Given the description of an element on the screen output the (x, y) to click on. 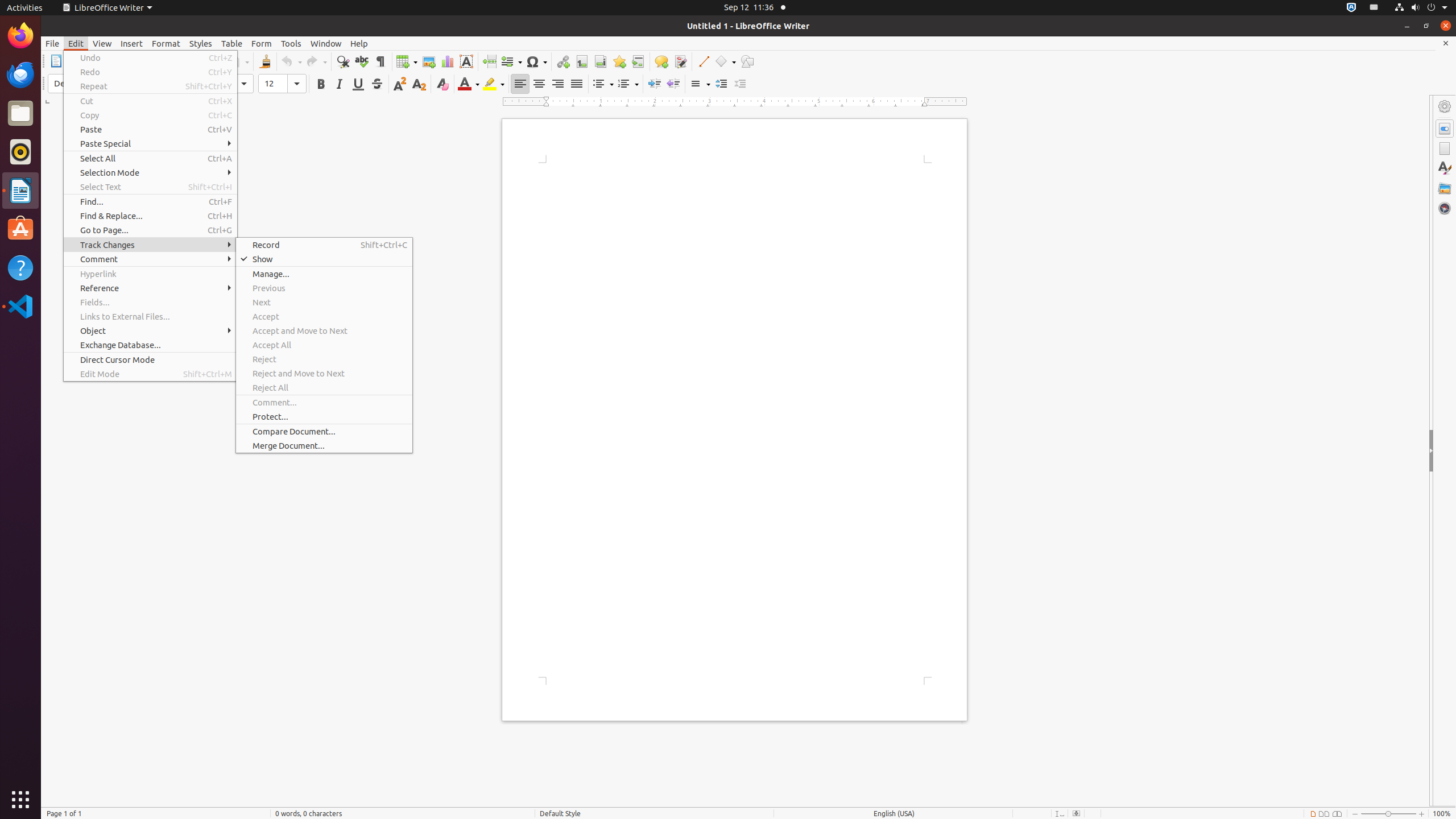
Font Color Element type: push-button (468, 83)
Bookmark Element type: push-button (618, 61)
Underline Element type: push-button (357, 83)
Basic Shapes Element type: push-button (724, 61)
Selection Mode Element type: menu (150, 172)
